Given the description of an element on the screen output the (x, y) to click on. 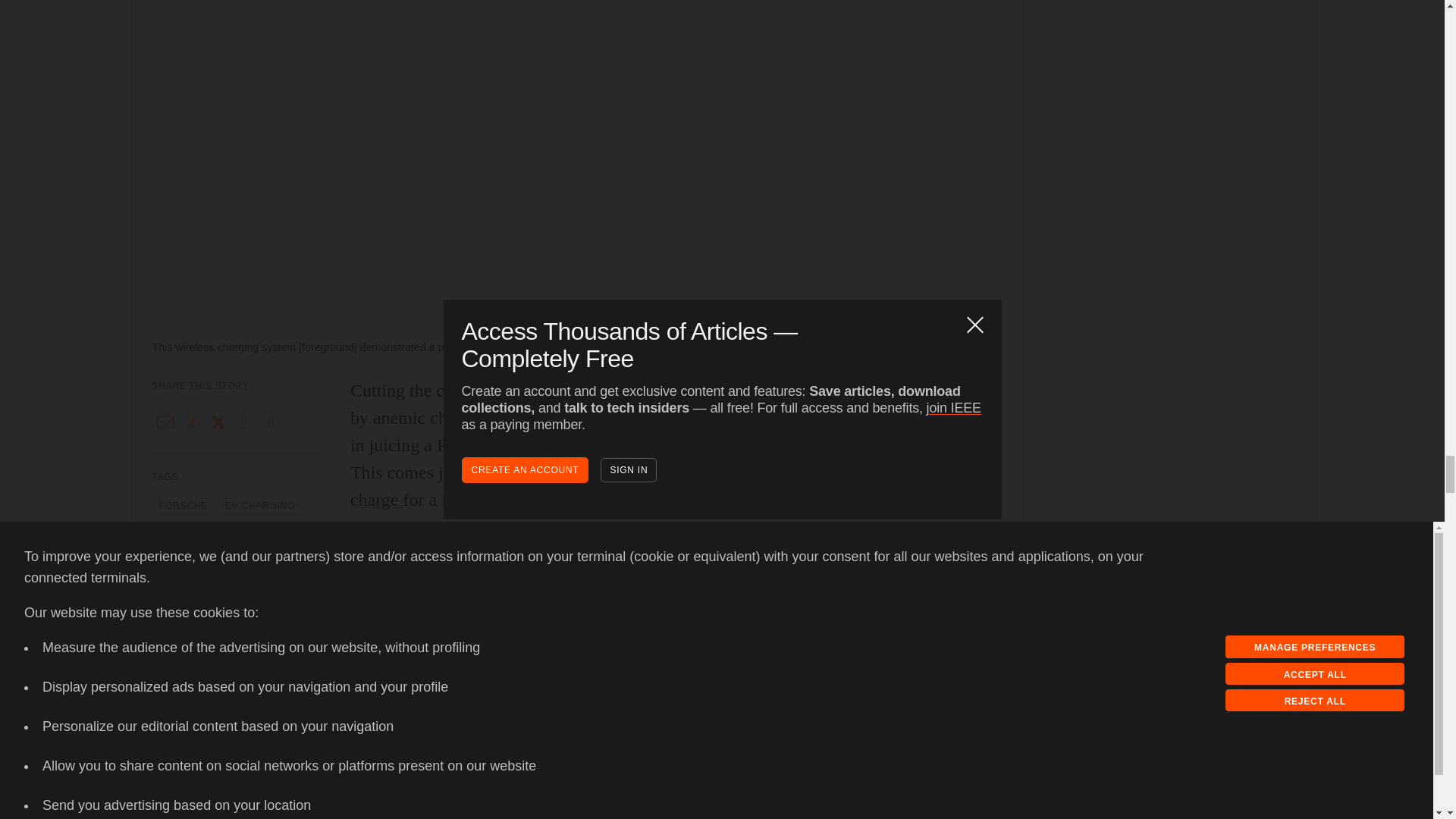
Copy this link to clipboard (192, 421)
